Given the description of an element on the screen output the (x, y) to click on. 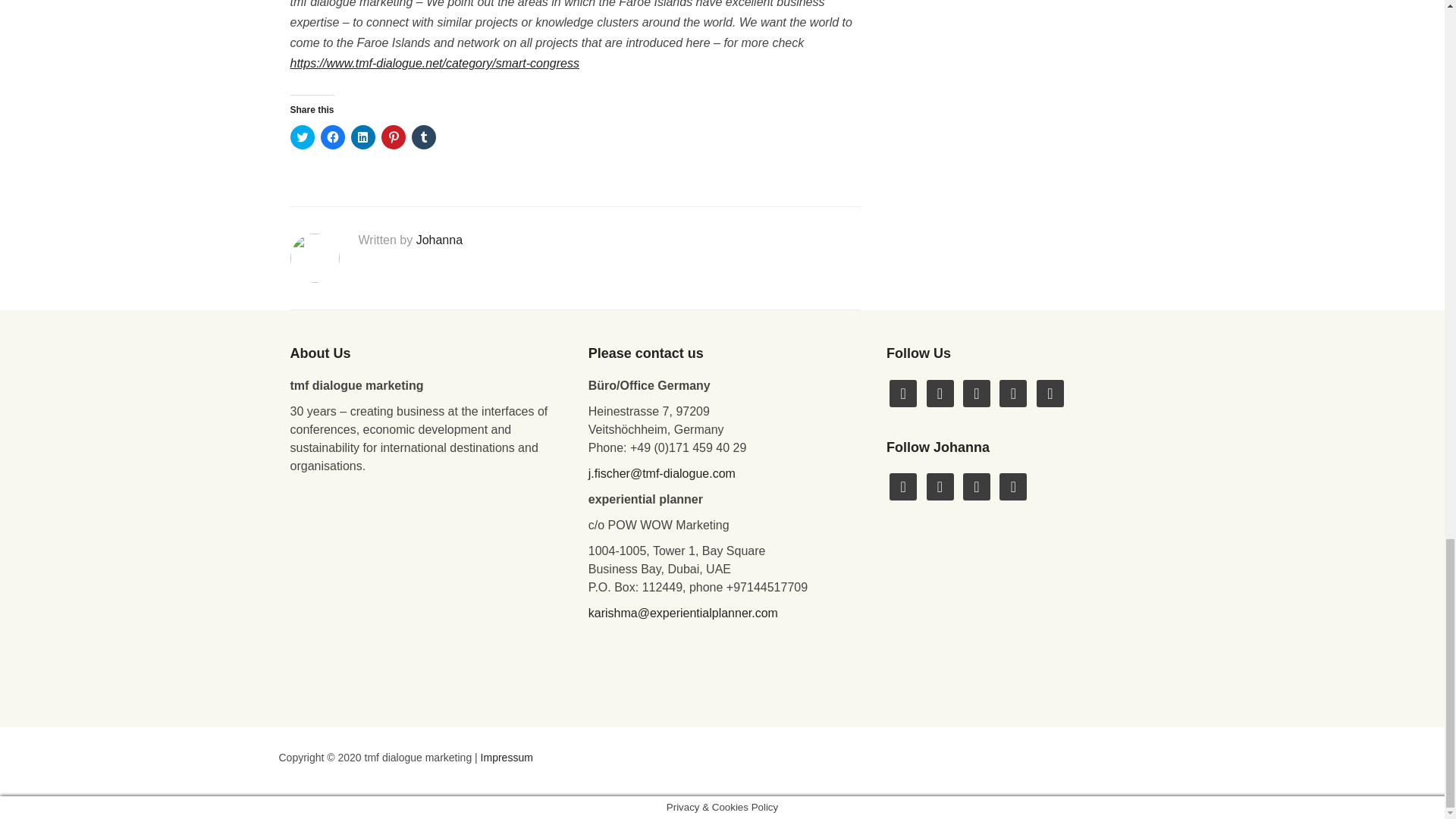
Default Label (939, 486)
youtube (1012, 391)
Follow Me (939, 391)
Click to share on Facebook (331, 137)
Posts by Johanna (439, 239)
Default Label (1050, 391)
instagram (976, 391)
twitter (939, 391)
Click to share on Pinterest (392, 137)
twitter (903, 486)
